Given the description of an element on the screen output the (x, y) to click on. 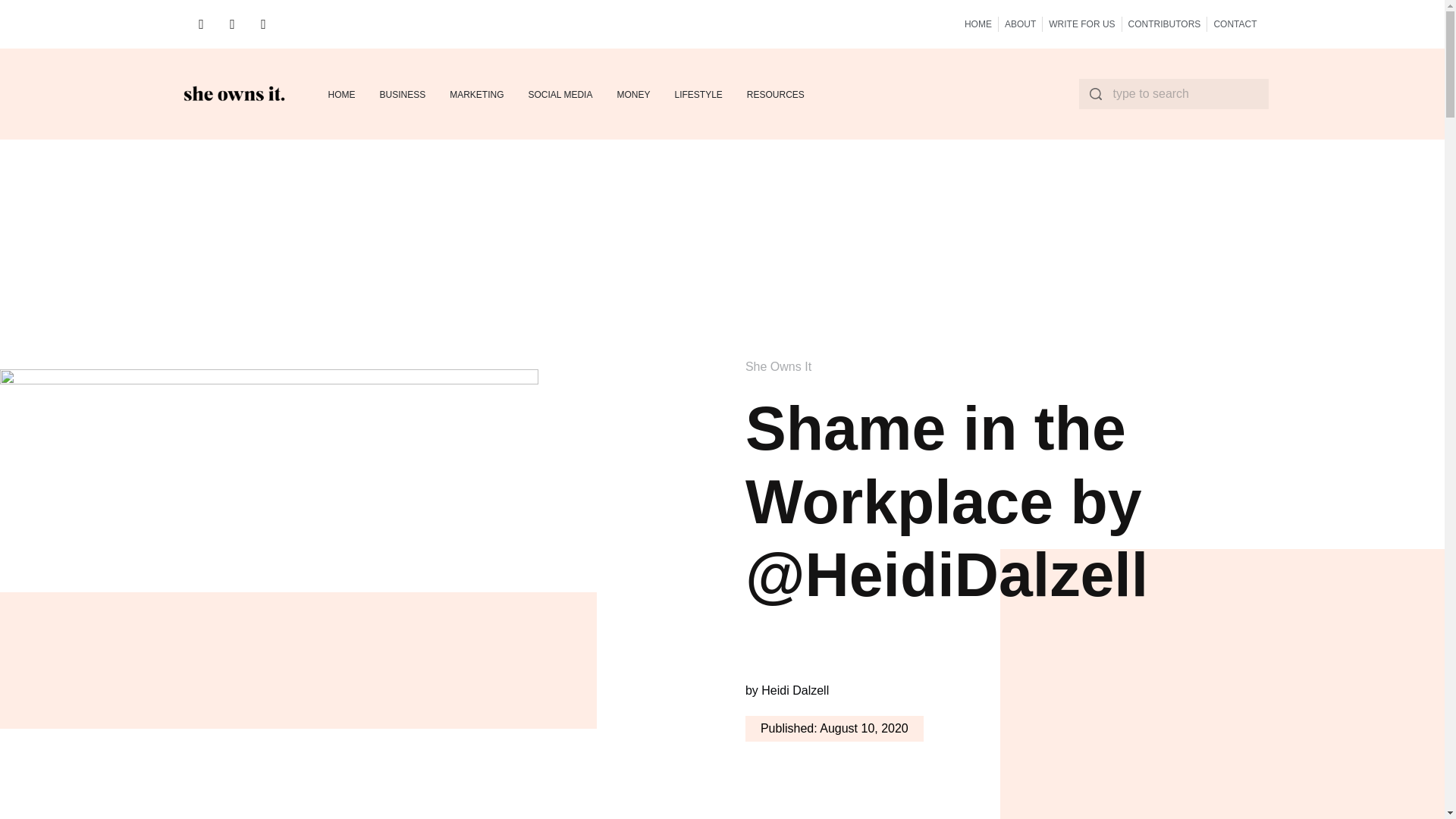
BUSINESS (401, 94)
HOME (341, 94)
CONTRIBUTORS (1164, 23)
SOCIAL MEDIA (560, 94)
WRITE FOR US (1081, 23)
She Owns It (777, 366)
ABOUT (1019, 23)
RESOURCES (775, 94)
HOME (977, 23)
MARKETING (476, 94)
LIFESTYLE (698, 94)
CONTACT (1234, 23)
MONEY (632, 94)
